Given the description of an element on the screen output the (x, y) to click on. 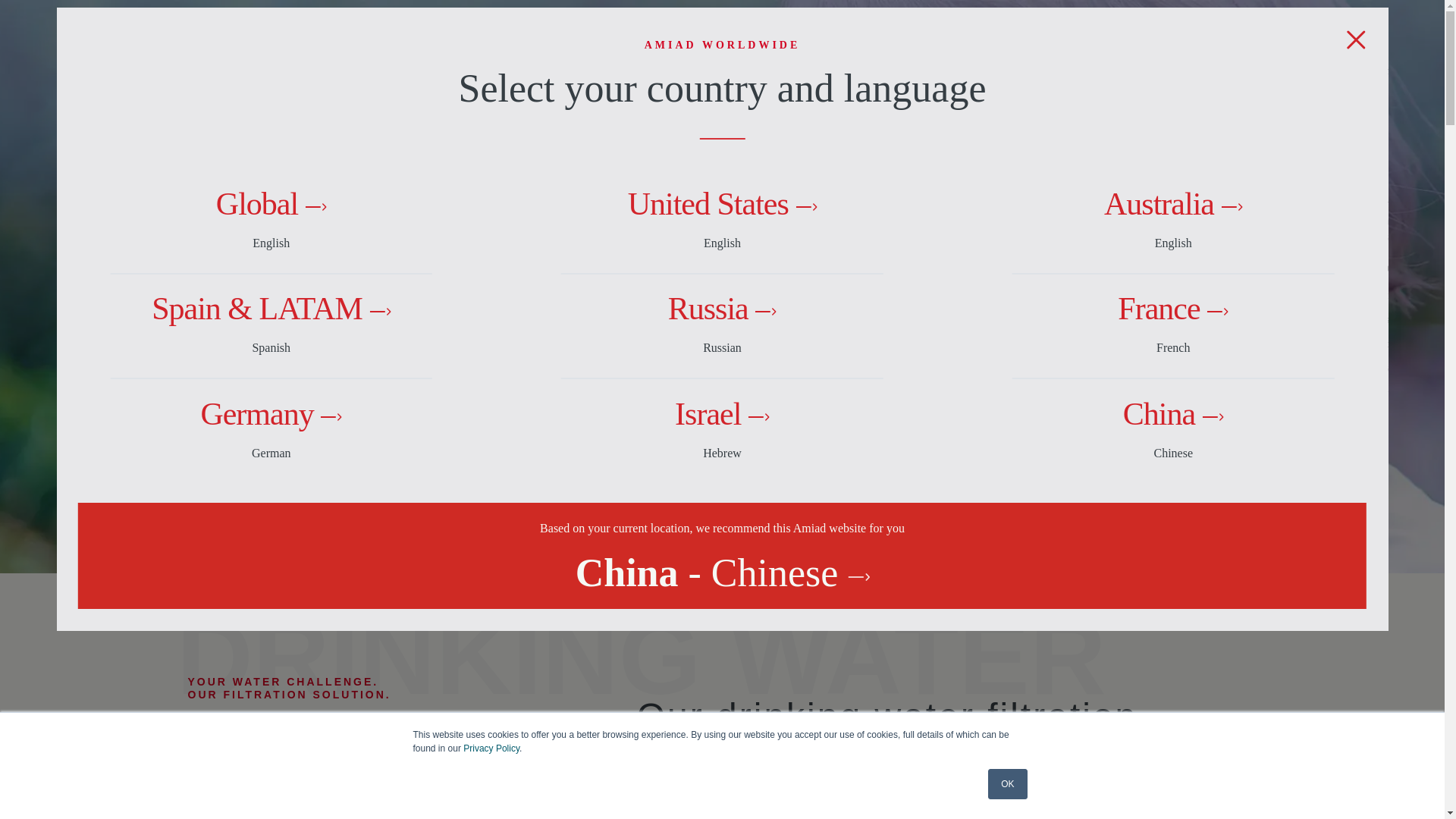
Partners Zone (1097, 17)
Investors Relations (989, 17)
OK (1007, 784)
Parts Center (818, 17)
No (1425, 787)
Careers (897, 17)
Sizewise (737, 17)
Privacy Policy (491, 747)
